Given the description of an element on the screen output the (x, y) to click on. 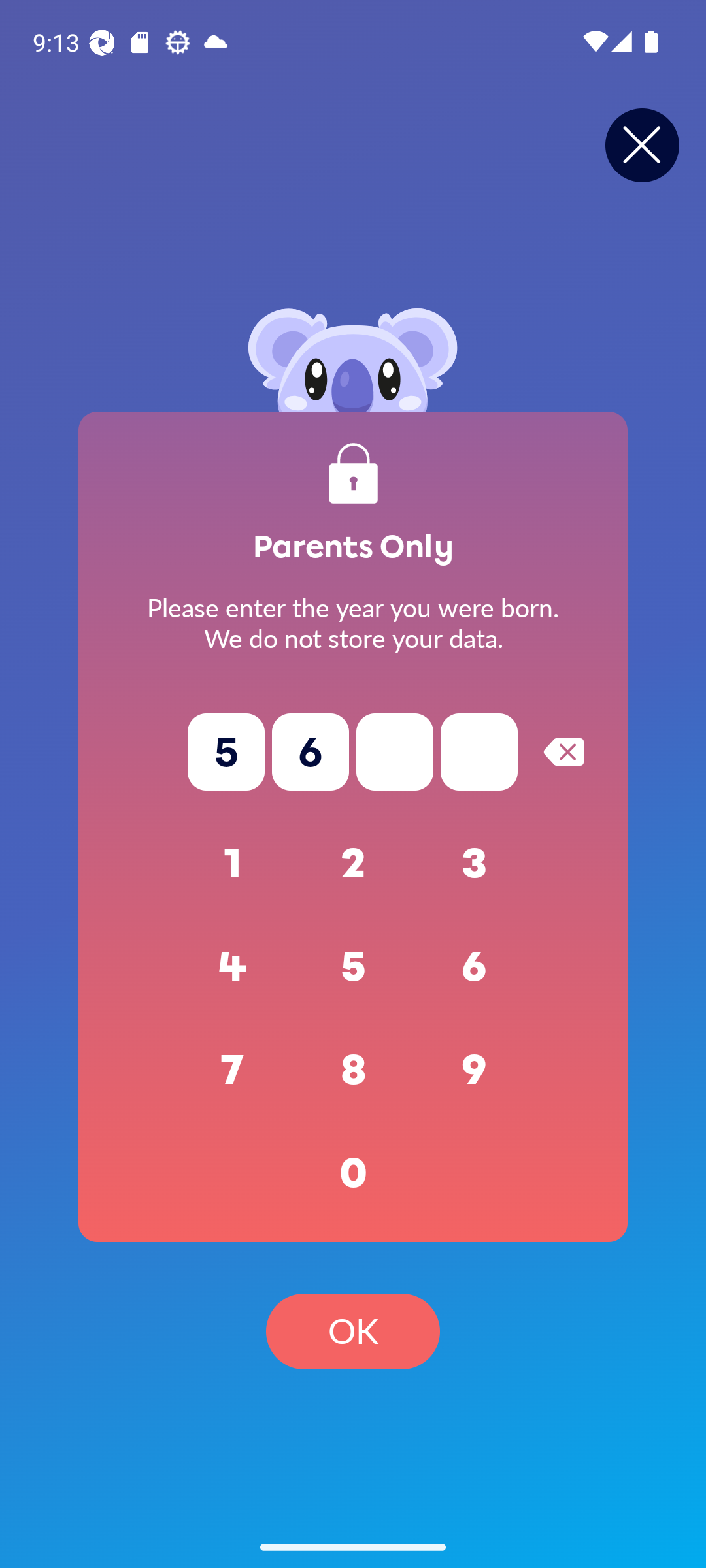
Delete (563, 751)
1 (232, 863)
2 (353, 863)
3 (474, 863)
4 (232, 966)
5 (353, 966)
6 (474, 966)
7 (232, 1069)
8 (353, 1069)
9 (474, 1069)
0 (353, 1173)
OK (352, 1331)
